Given the description of an element on the screen output the (x, y) to click on. 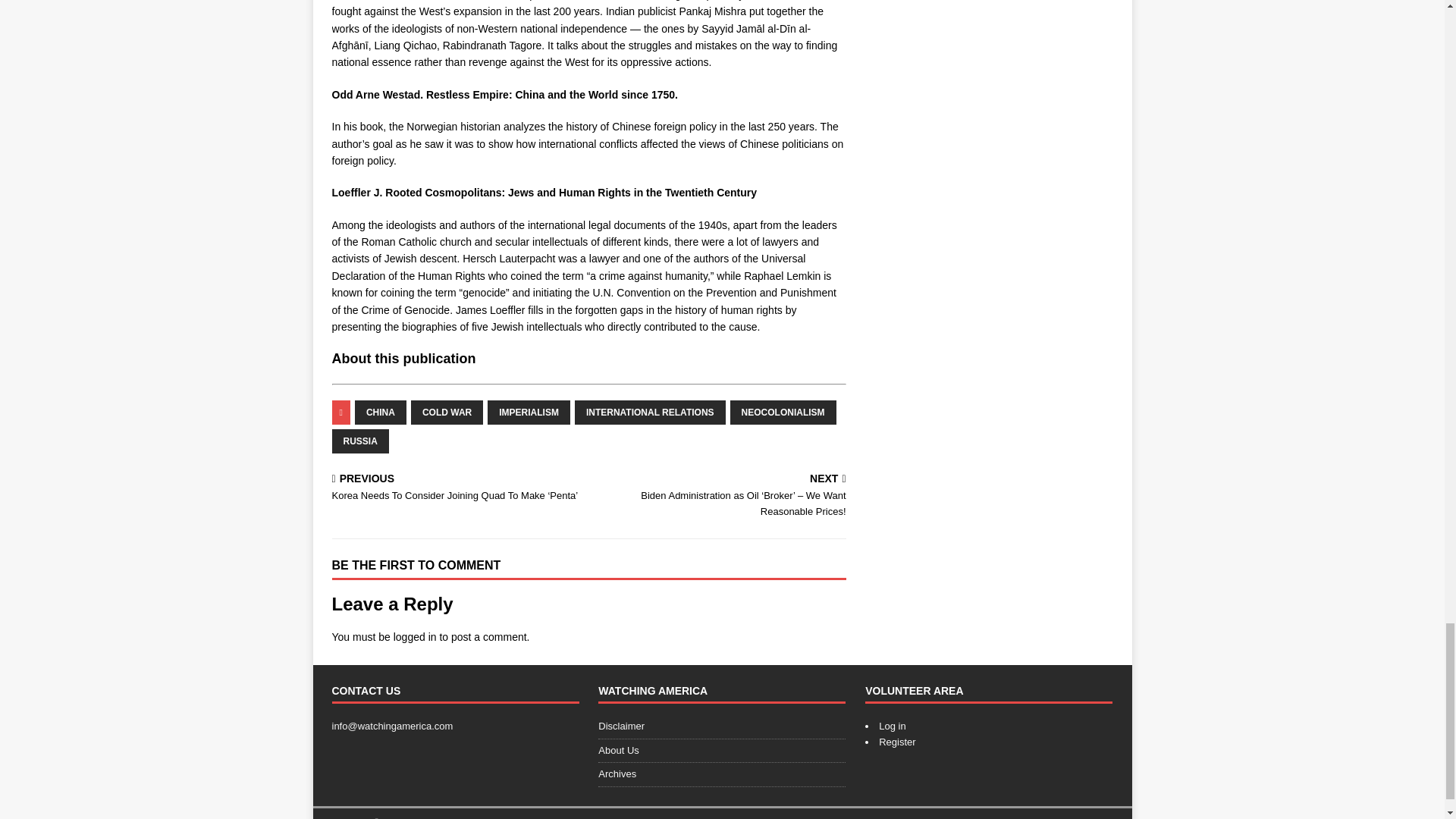
Register (897, 741)
INTERNATIONAL RELATIONS (650, 412)
CHINA (380, 412)
COLD WAR (446, 412)
Log in (892, 726)
Disclaimer (721, 728)
RUSSIA (359, 441)
About Us (721, 750)
NEOCOLONIALISM (782, 412)
logged in (414, 636)
